Given the description of an element on the screen output the (x, y) to click on. 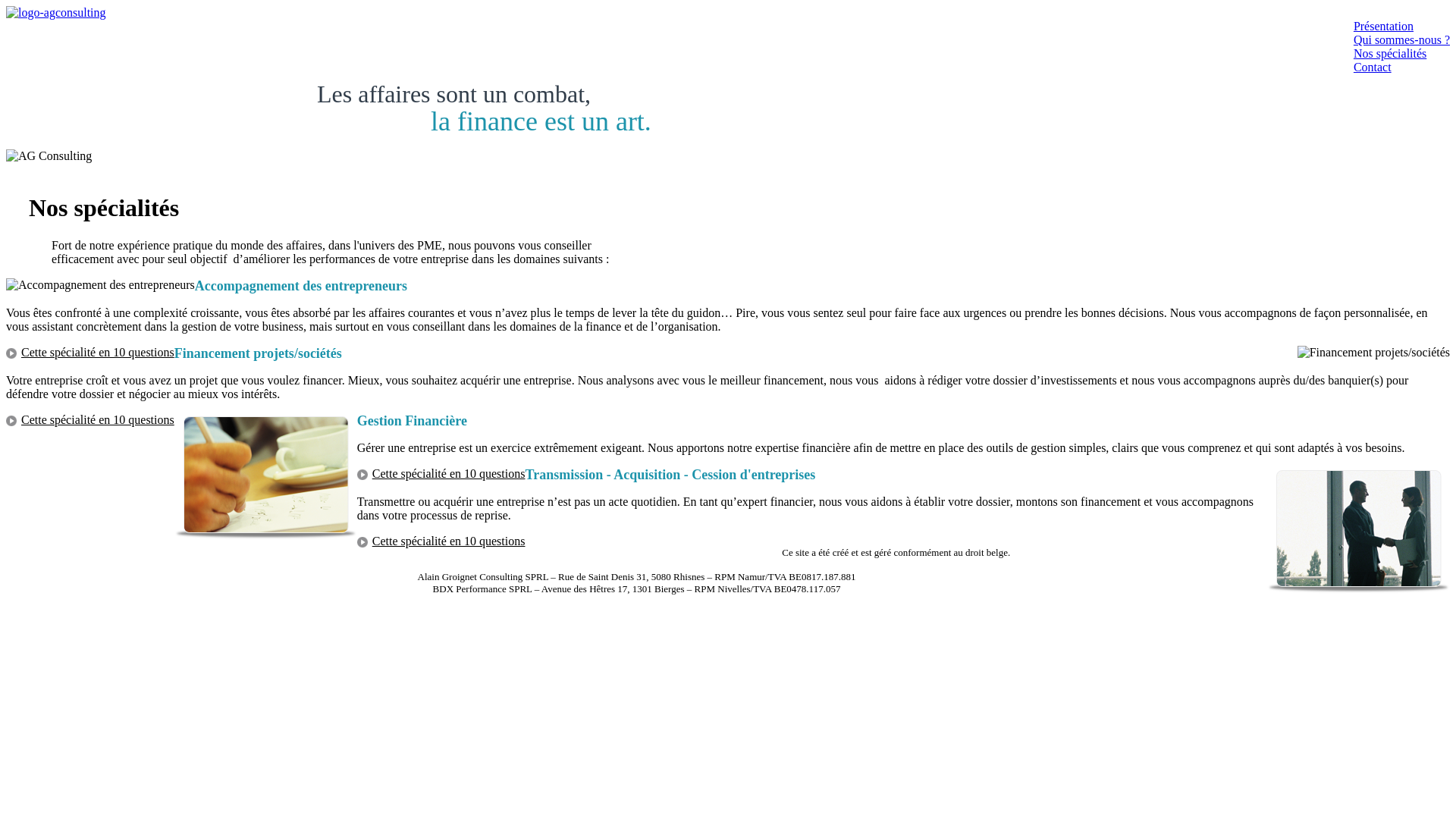
Contact Element type: text (1372, 66)
AG Consulting Element type: hover (56, 12)
Qui sommes-nous ? Element type: text (1401, 39)
